Given the description of an element on the screen output the (x, y) to click on. 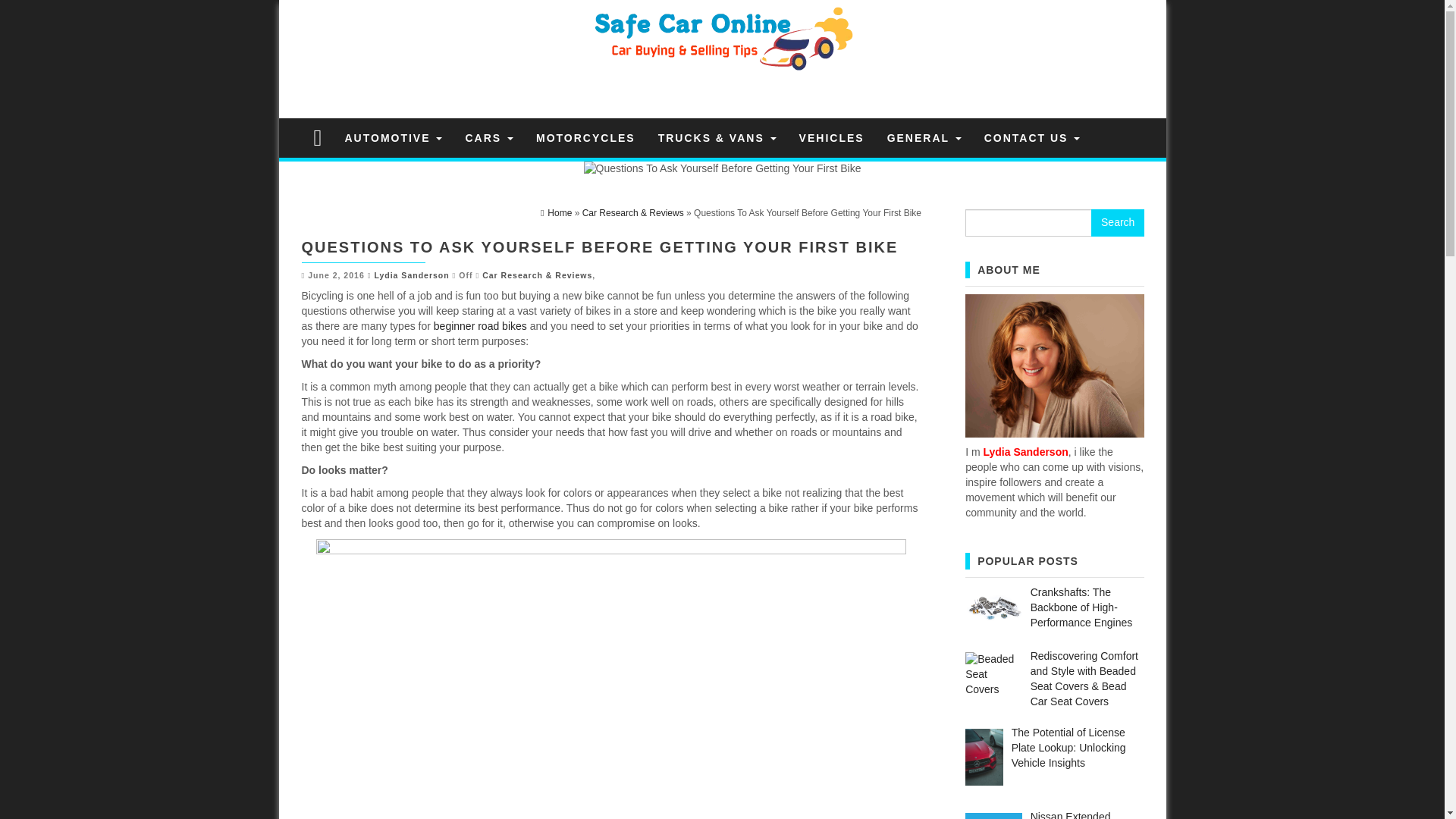
Cars (488, 137)
beginner road bikes (480, 326)
Lydia Sanderson (411, 275)
VEHICLES (831, 137)
CARS (488, 137)
CONTACT US (1032, 137)
Automotive (392, 137)
GENERAL (924, 137)
MOTORCYCLES (585, 137)
AUTOMOTIVE (392, 137)
Home (556, 213)
Search (1117, 222)
